Given the description of an element on the screen output the (x, y) to click on. 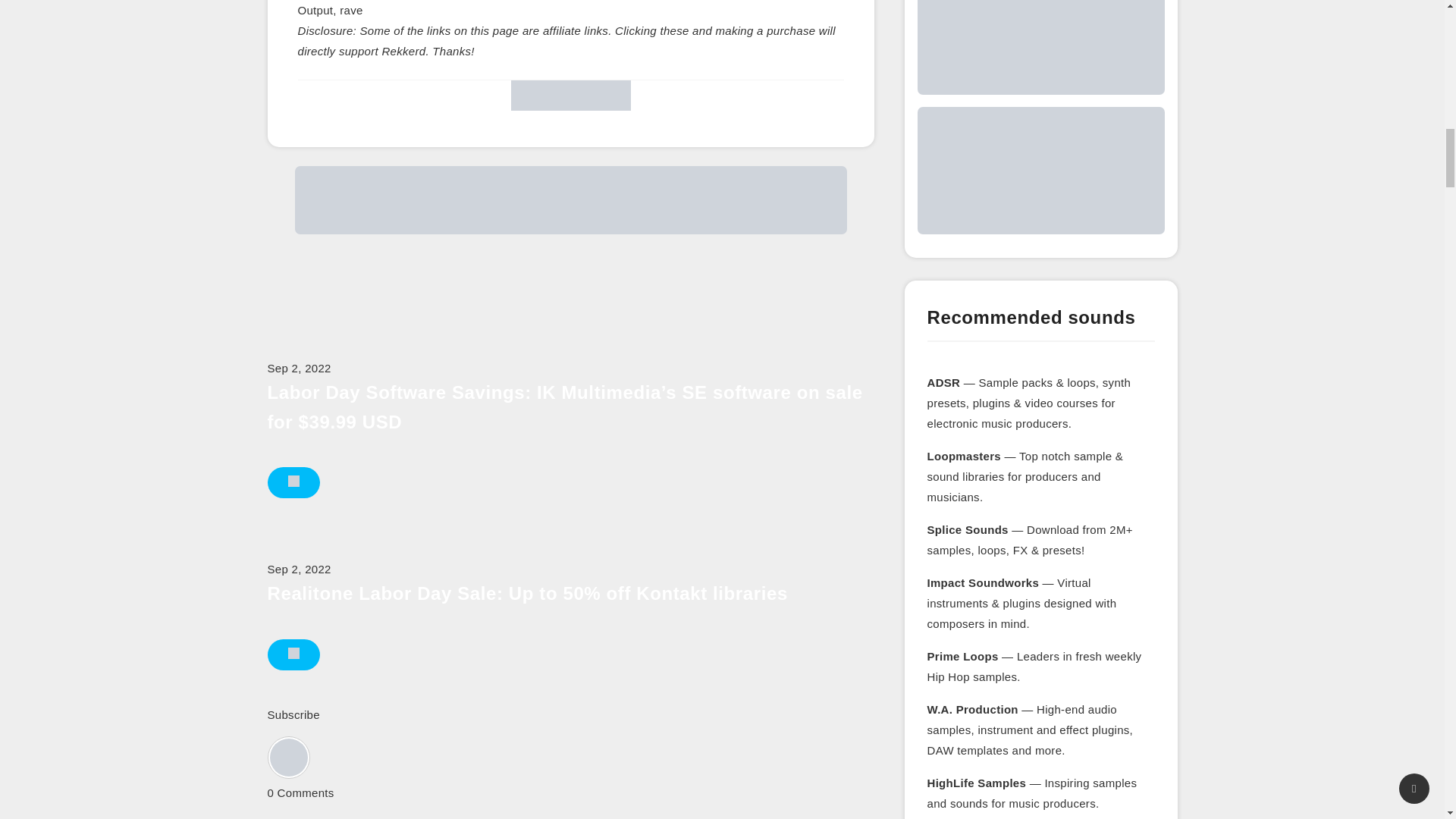
rave (350, 10)
Output (315, 10)
